Given the description of an element on the screen output the (x, y) to click on. 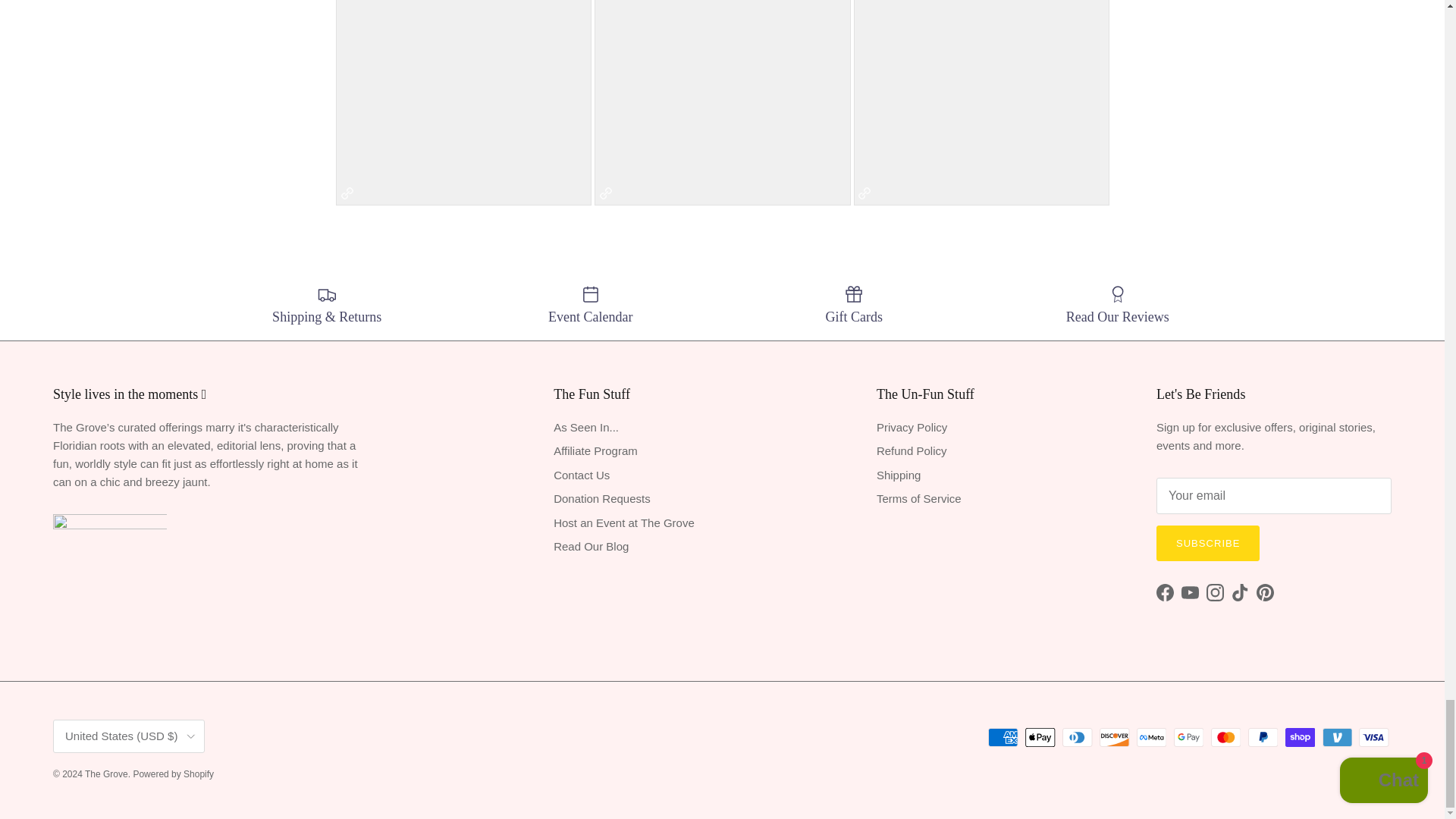
The Grove on Facebook (1164, 592)
American Express (1002, 737)
The Grove on Instagram (1215, 592)
The Grove on YouTube (1189, 592)
The Grove on Pinterest (1265, 592)
The Grove on TikTok (1240, 592)
